Given the description of an element on the screen output the (x, y) to click on. 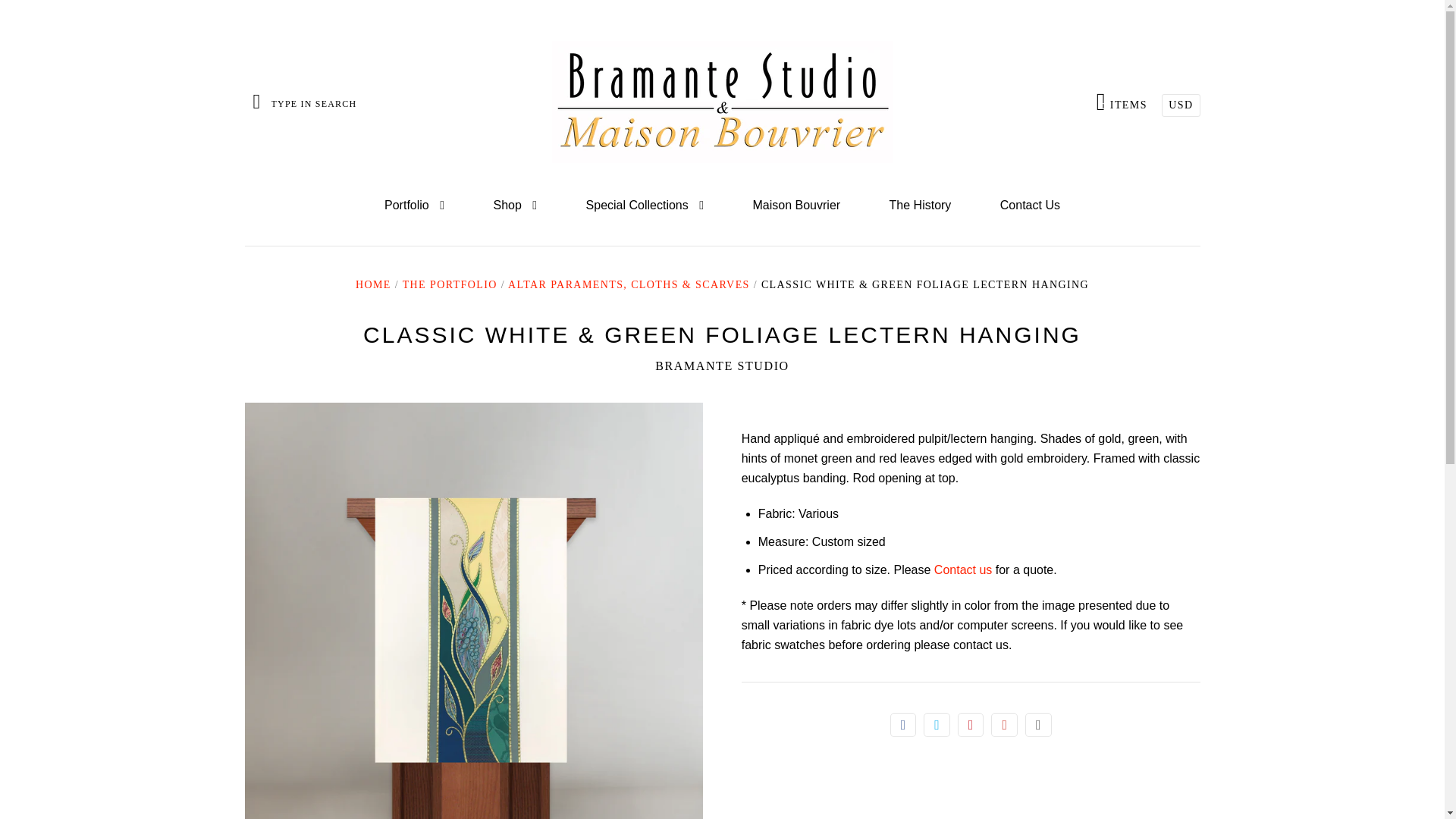
The History (920, 205)
Contact us (962, 569)
Maison Bouvrier (796, 205)
Pin it (971, 724)
Like (903, 724)
Email (1038, 724)
Special Collections (644, 205)
BRAMANTE STUDIO (1121, 101)
HOME (722, 365)
Shop (373, 284)
Tweet (514, 205)
Portfolio (936, 724)
THE PORTFOLIO (414, 205)
Contact Us (450, 284)
